Given the description of an element on the screen output the (x, y) to click on. 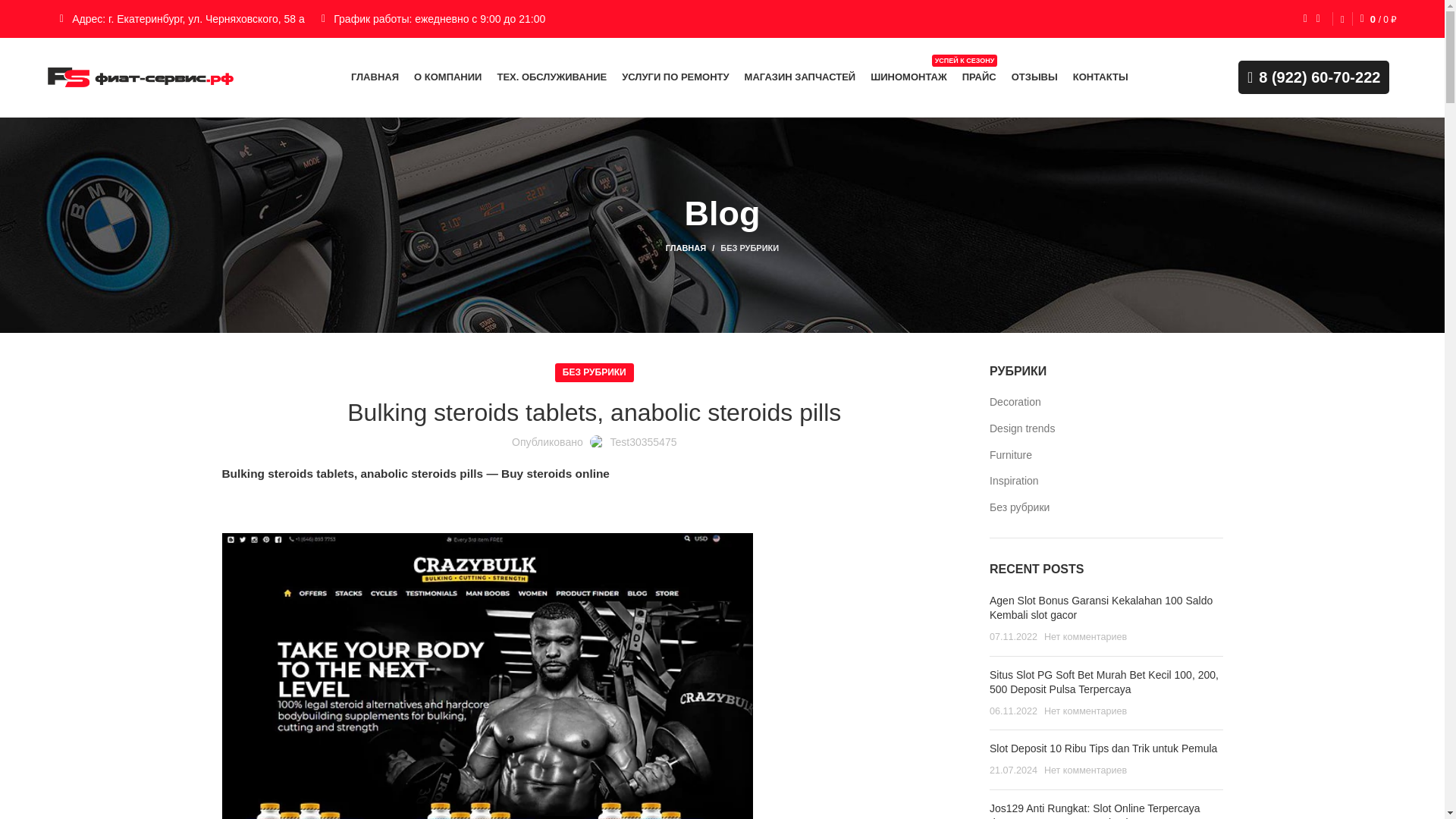
Test30355475 (643, 441)
